Given the description of an element on the screen output the (x, y) to click on. 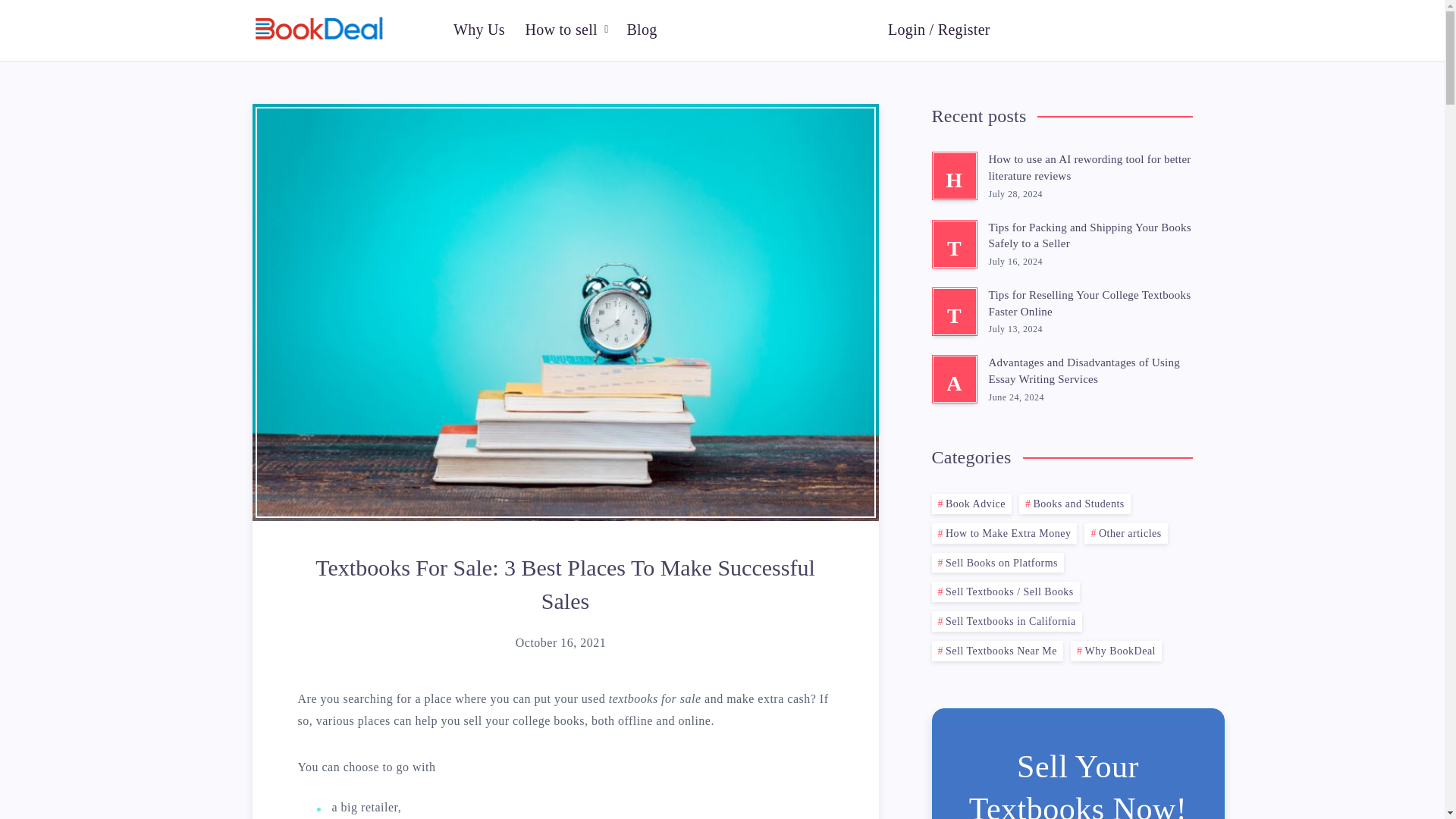
T (953, 244)
Blog (641, 29)
Why Us (478, 29)
How to sell (560, 29)
H (953, 175)
